Given the description of an element on the screen output the (x, y) to click on. 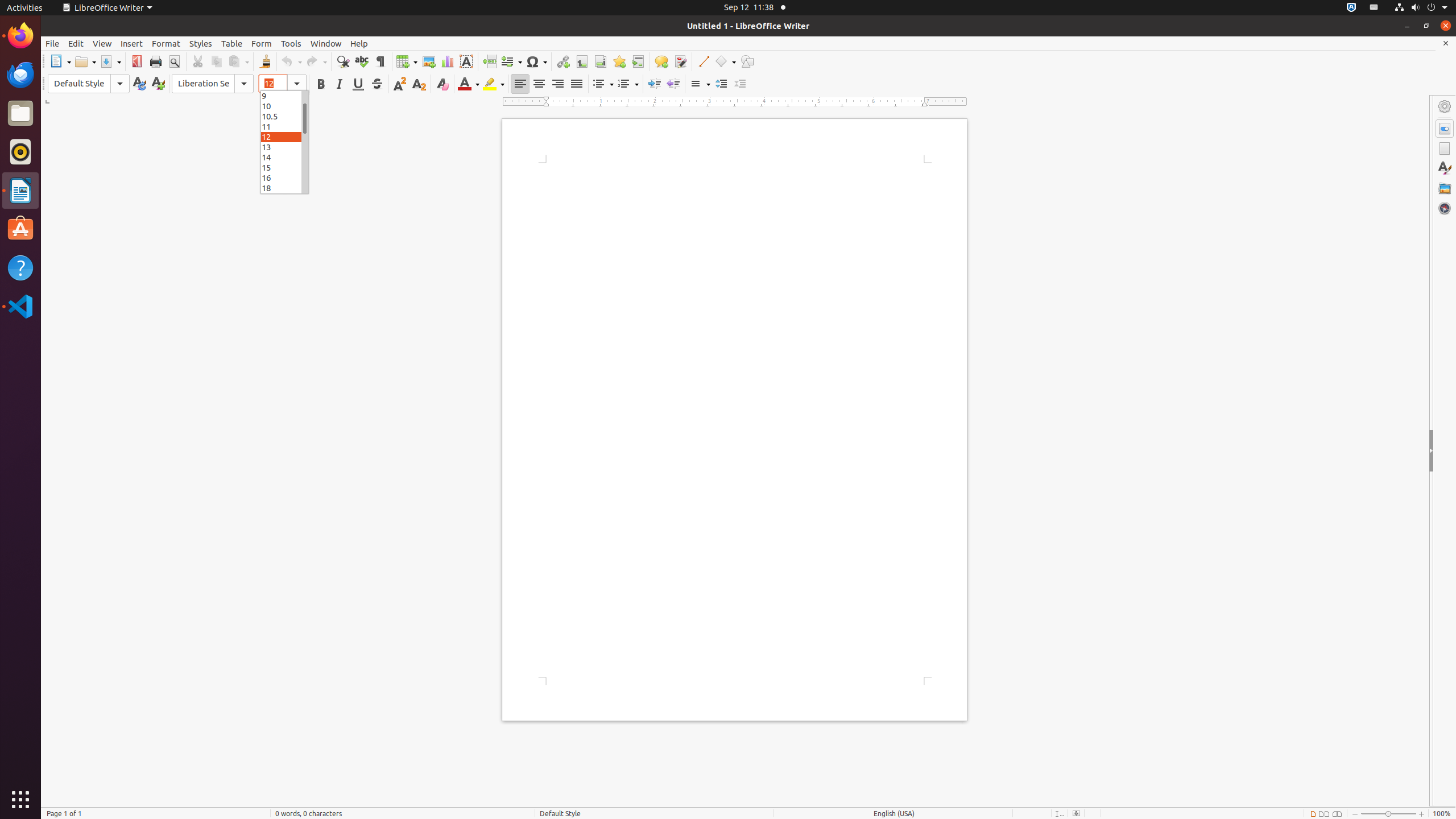
Draw Functions Element type: push-button (746, 61)
PDF Element type: push-button (136, 61)
Italic Element type: toggle-button (338, 83)
Cut Element type: push-button (197, 61)
Visual Studio Code Element type: push-button (20, 306)
